Given the description of an element on the screen output the (x, y) to click on. 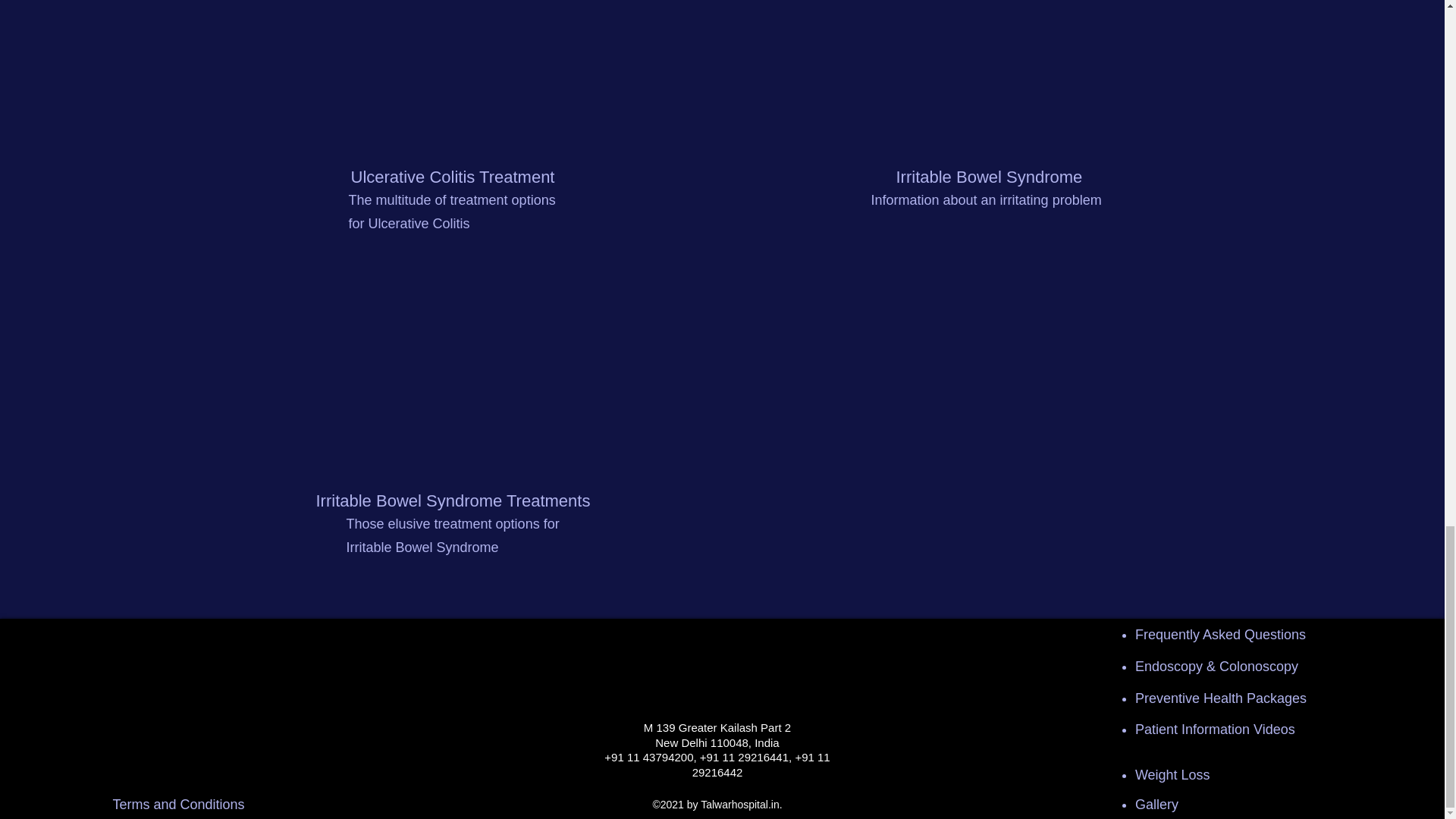
Frequently Asked Questions (1220, 634)
Patient Information Videos (1215, 729)
Preventive Health Packages (1220, 698)
Terms and Conditions (178, 804)
